Given the description of an element on the screen output the (x, y) to click on. 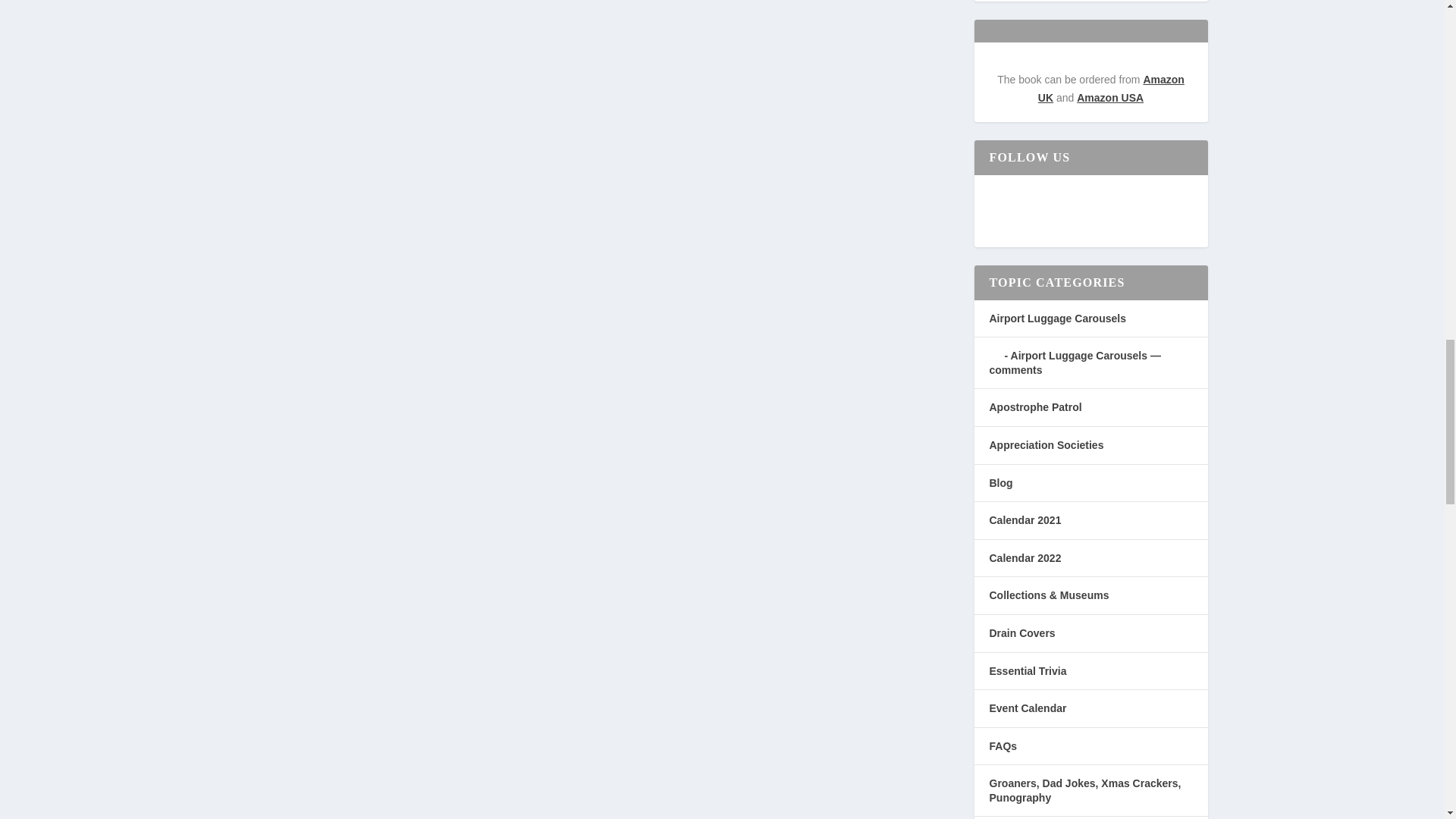
Apostrophe Patrol (1034, 407)
Amazon UK (1111, 88)
Appreciation Societies (1045, 444)
Airport Luggage Carousels (1056, 318)
Amazon USA (1109, 97)
